Given the description of an element on the screen output the (x, y) to click on. 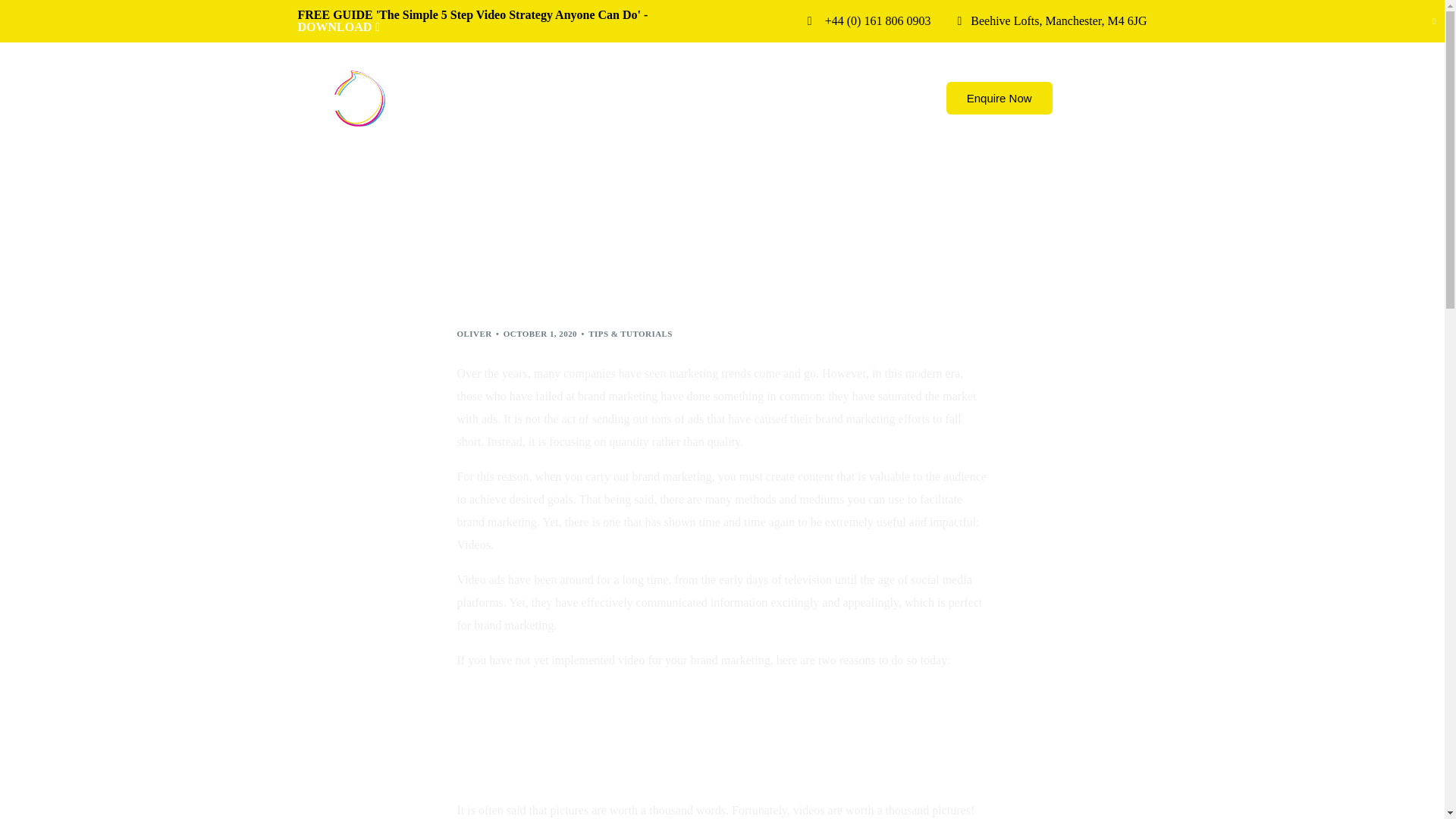
OLIVER (474, 333)
DOWNLOAD (338, 27)
Music Video (1114, 97)
Enquire Now (999, 97)
Posts by Oliver (474, 333)
